Given the description of an element on the screen output the (x, y) to click on. 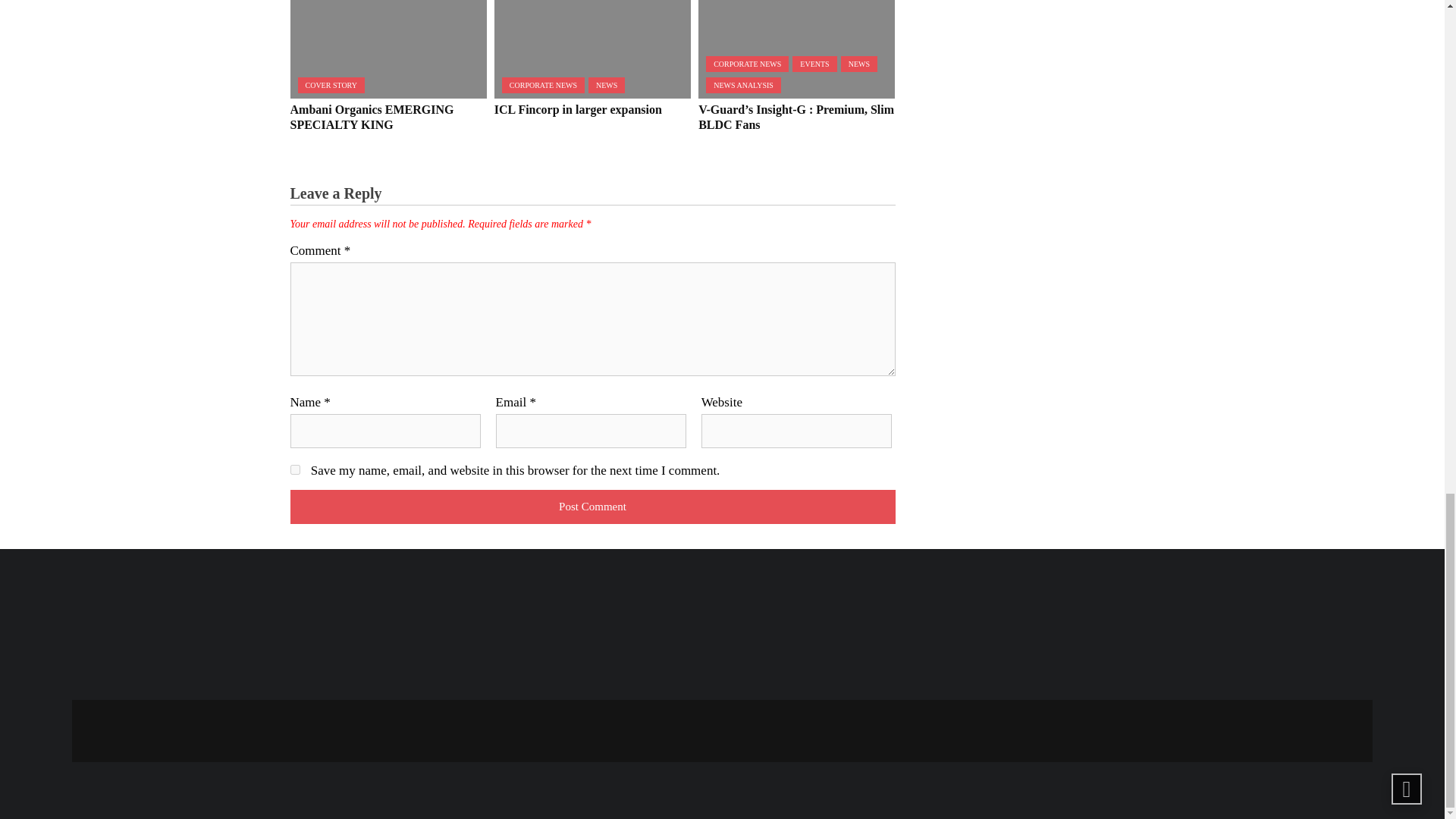
Post Comment (592, 506)
ICL Fincorp in larger expansion (592, 49)
yes (294, 470)
